Given the description of an element on the screen output the (x, y) to click on. 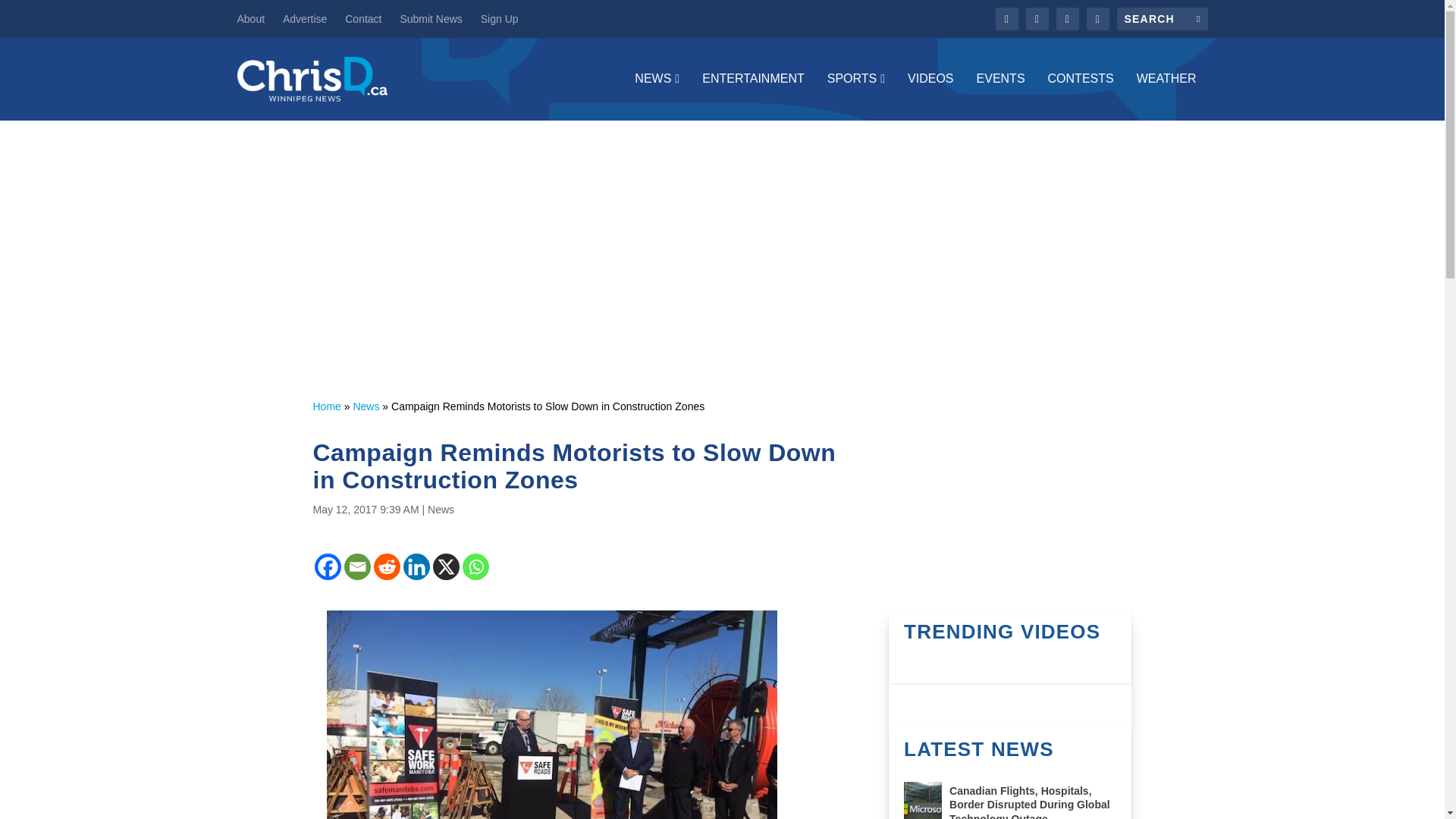
Submit News (429, 18)
News (441, 509)
Home (326, 406)
SPORTS (856, 96)
ENTERTAINMENT (753, 96)
NEWS (656, 96)
VIDEOS (930, 96)
Email (357, 566)
Contact (363, 18)
CONTESTS (1080, 96)
X (445, 566)
EVENTS (1000, 96)
Linkedin (416, 566)
Search for: (1161, 18)
